Given the description of an element on the screen output the (x, y) to click on. 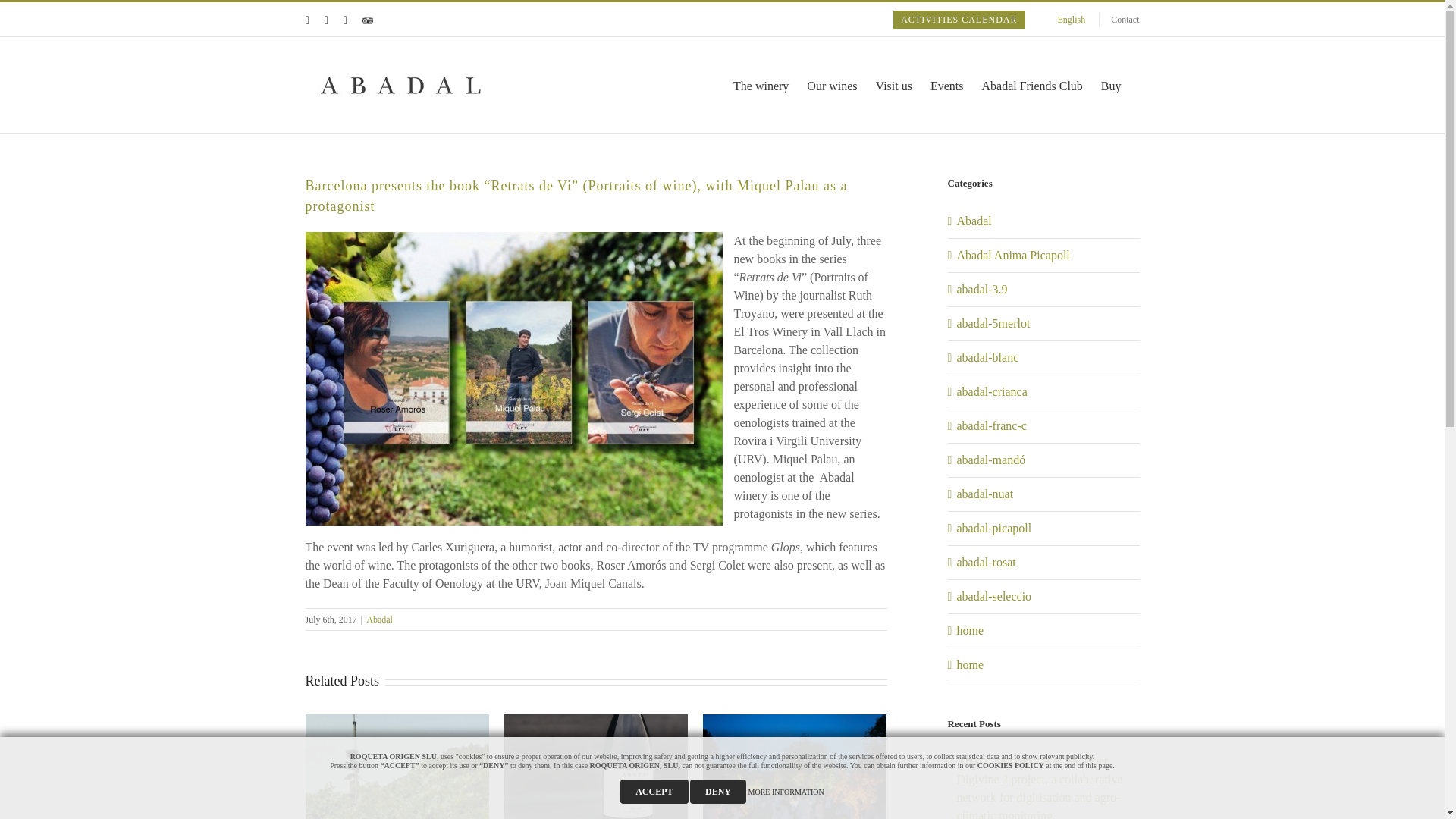
Abadal Friends Club (1031, 84)
Contact (1124, 19)
English (1067, 19)
TripAdvisor (367, 20)
ACTIVITIES CALENDAR (959, 19)
